Given the description of an element on the screen output the (x, y) to click on. 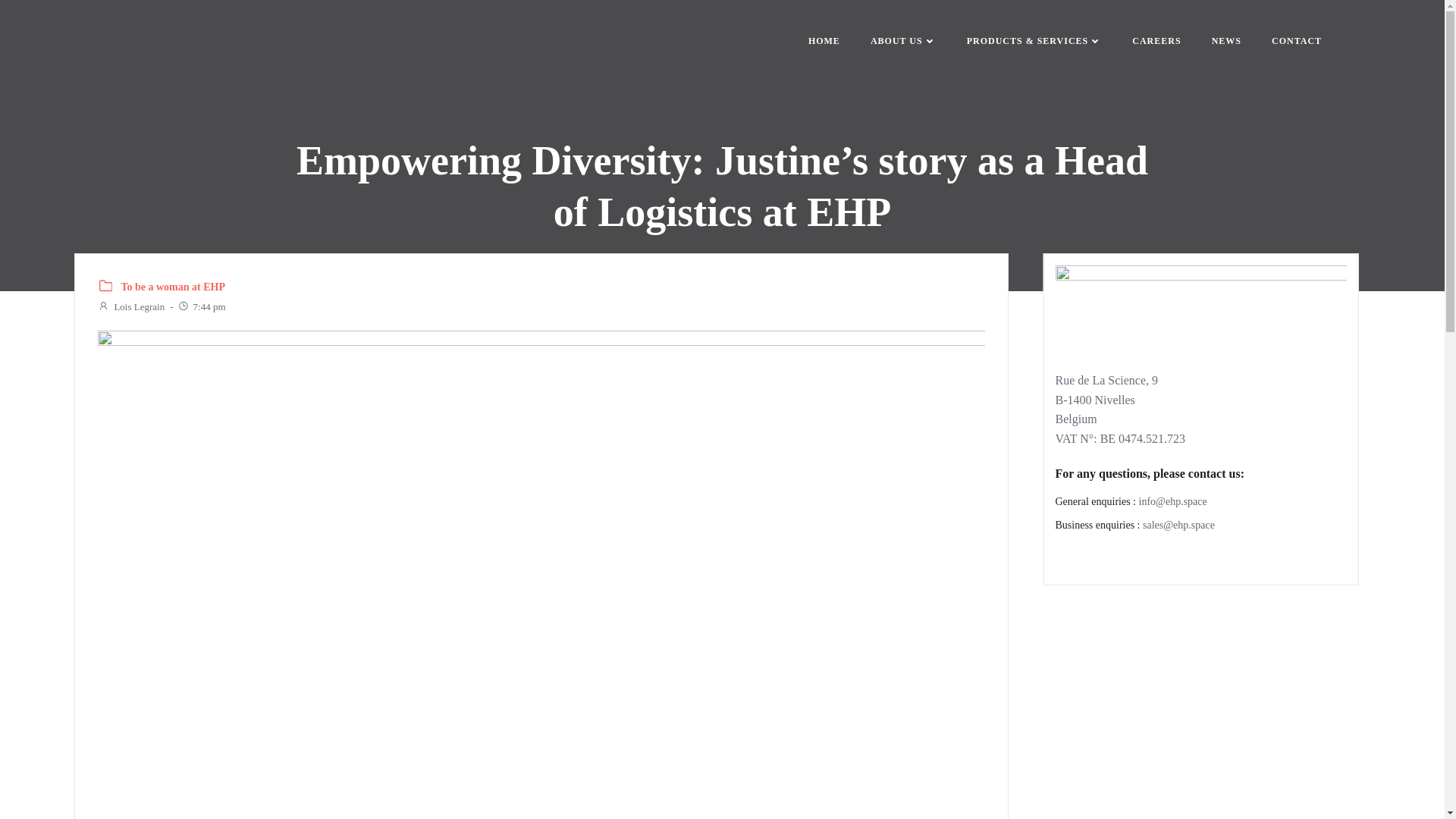
To be a woman at EHP (172, 287)
ABOUT US (903, 40)
HOME (824, 40)
NEWS (1226, 40)
CAREERS (1156, 40)
Lois Legrain (130, 306)
CONTACT (1296, 40)
7:44 pm (201, 306)
